Given the description of an element on the screen output the (x, y) to click on. 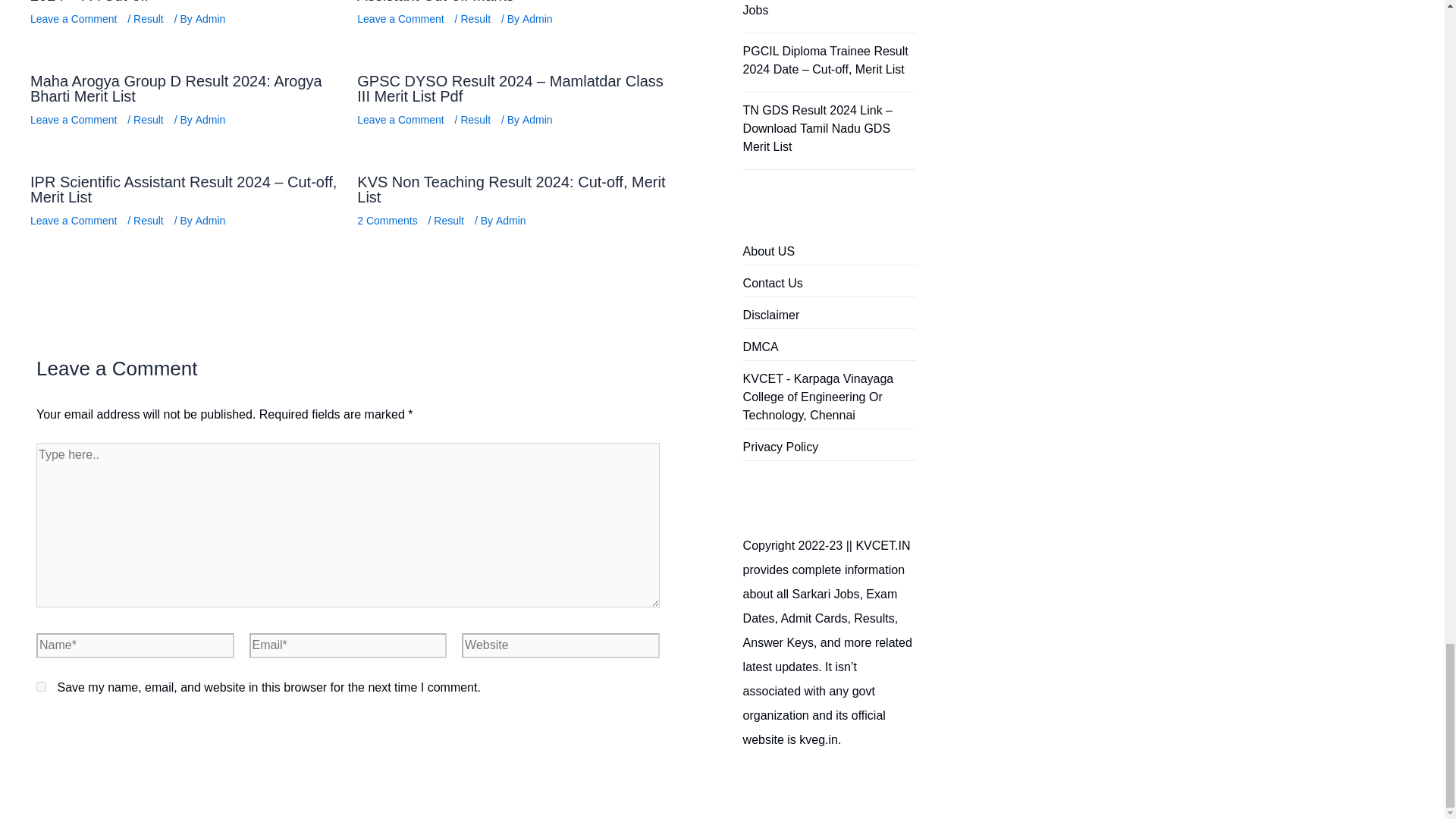
Admin (212, 18)
View all posts by Admin (212, 220)
View all posts by Admin (539, 119)
Result (148, 119)
Post Comment (103, 728)
yes (41, 686)
Admin (539, 18)
View all posts by Admin (512, 220)
Leave a Comment (73, 119)
Result (148, 18)
Leave a Comment (400, 18)
View all posts by Admin (539, 18)
View all posts by Admin (212, 119)
Result (475, 18)
View all posts by Admin (212, 18)
